Given the description of an element on the screen output the (x, y) to click on. 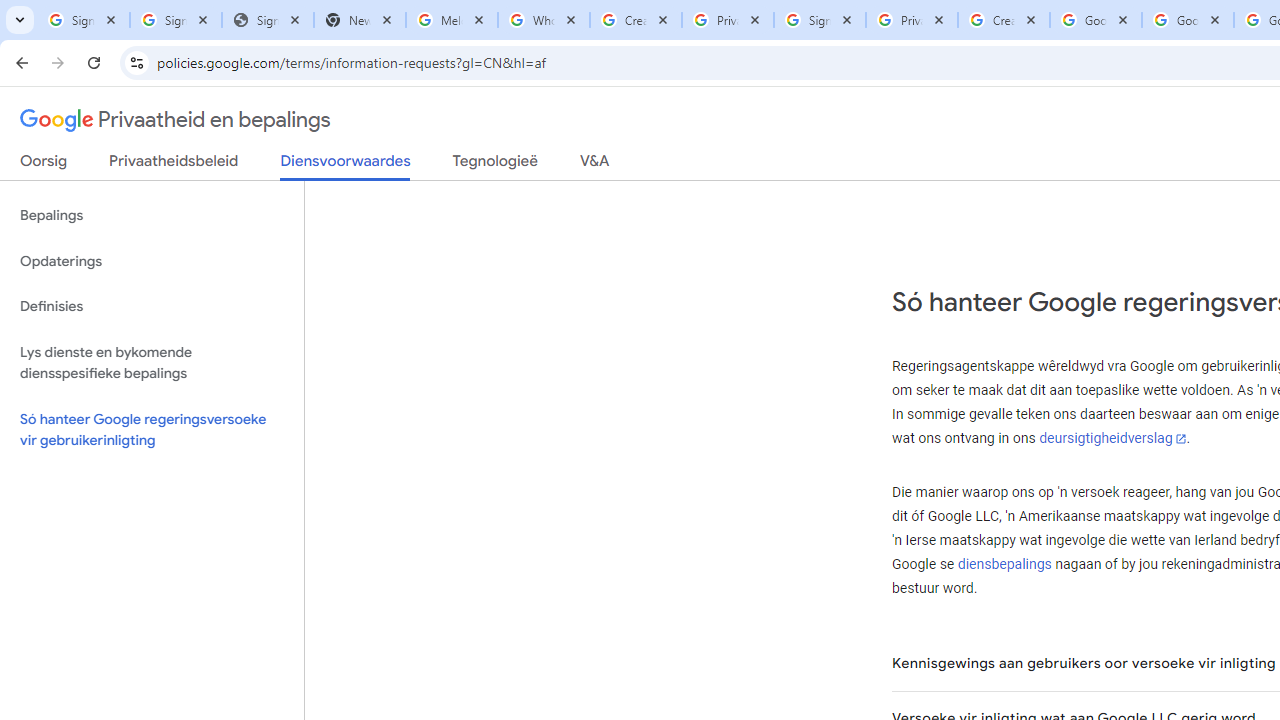
Oorsig (43, 165)
Opdaterings (152, 261)
Privaatheid en bepalings (175, 120)
New Tab (359, 20)
Bepalings (152, 215)
Sign in - Google Accounts (83, 20)
Definisies (152, 306)
V&A (594, 165)
